Given the description of an element on the screen output the (x, y) to click on. 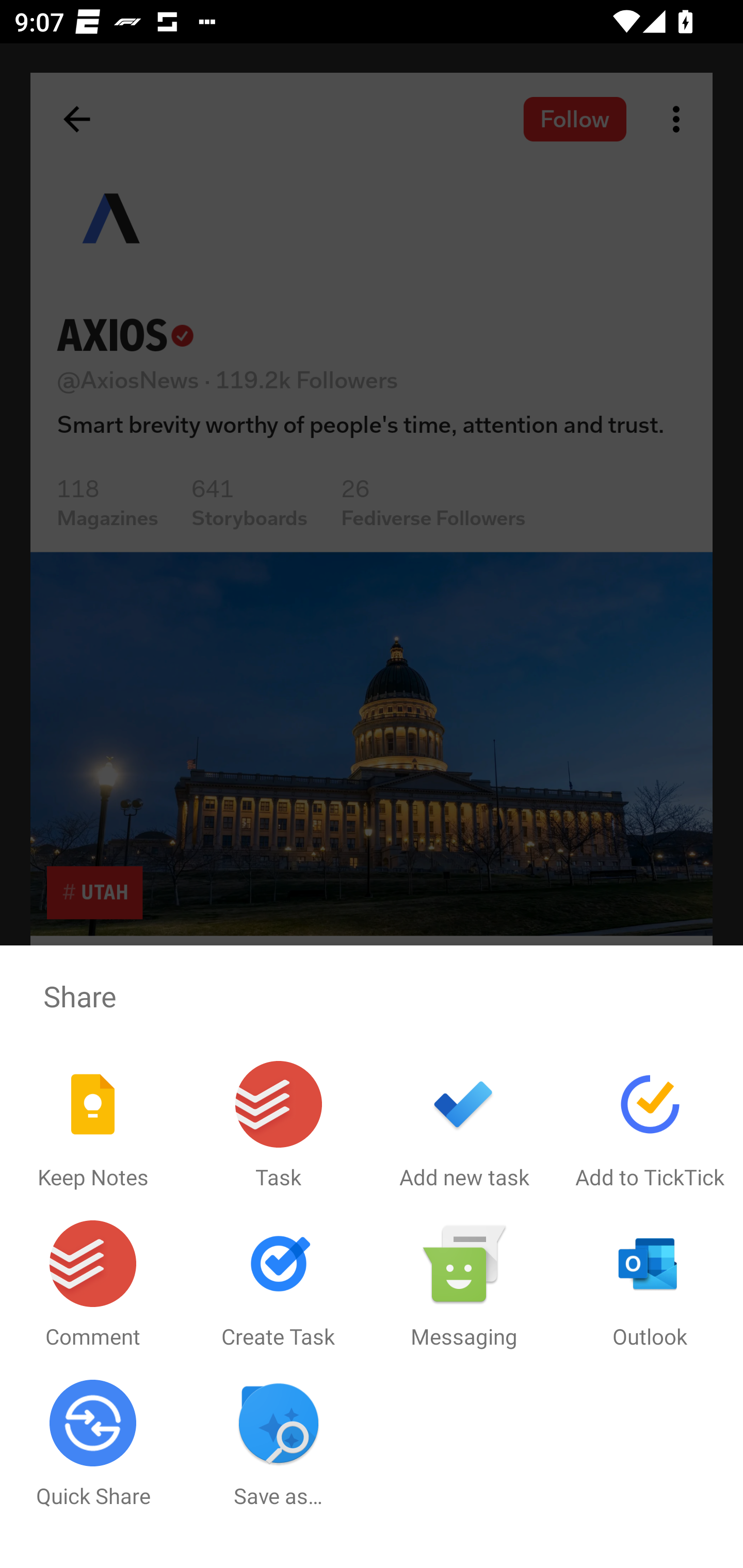
Keep Notes (92, 1125)
Task (278, 1125)
Add new task (464, 1125)
Add to TickTick (650, 1125)
Comment (92, 1285)
Create Task (278, 1285)
Messaging (464, 1285)
Outlook (650, 1285)
Quick Share (92, 1444)
Save as… (278, 1444)
